Given the description of an element on the screen output the (x, y) to click on. 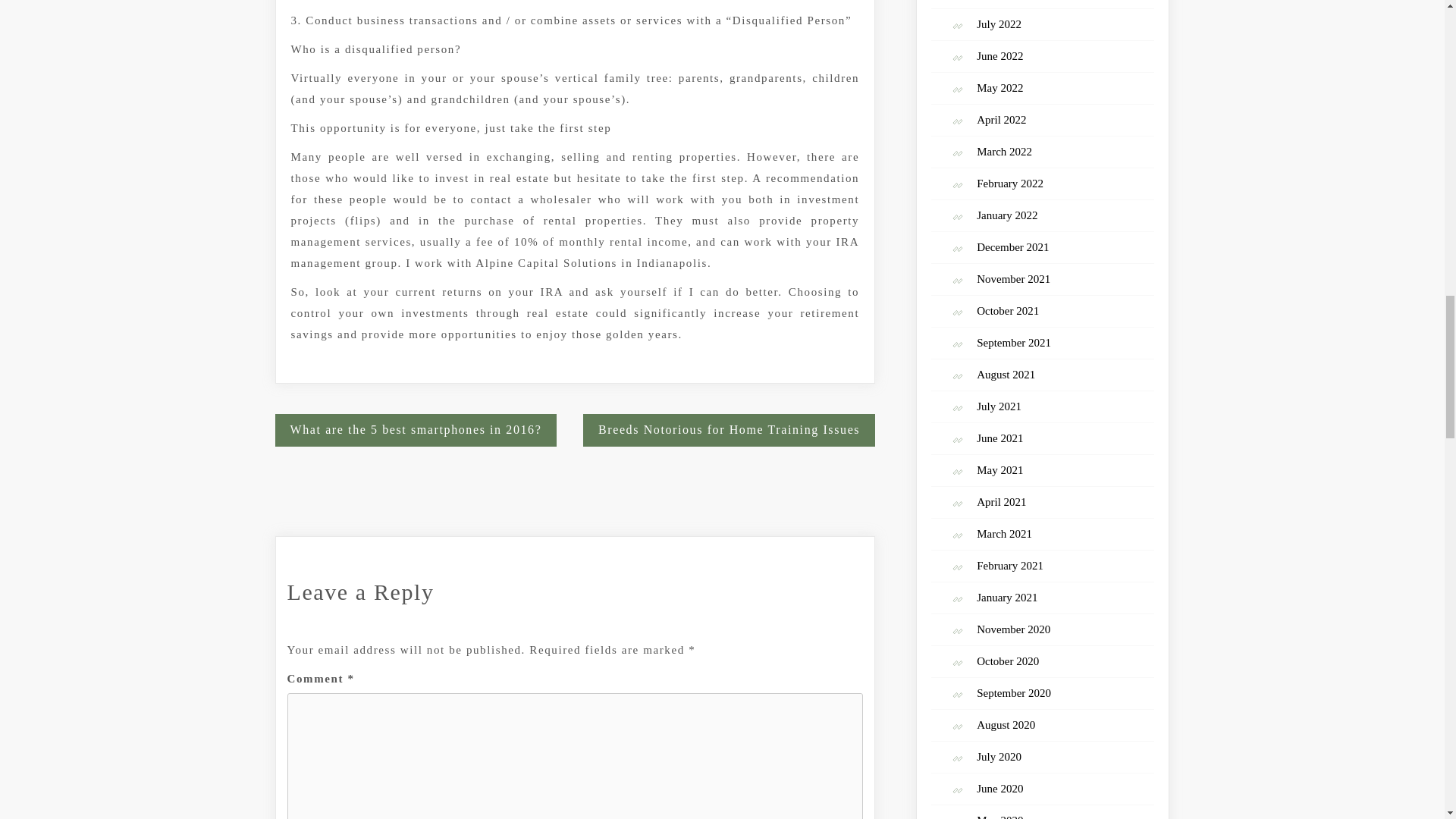
What are the 5 best smartphones in 2016? (415, 430)
Breeds Notorious for Home Training Issues (729, 430)
